Given the description of an element on the screen output the (x, y) to click on. 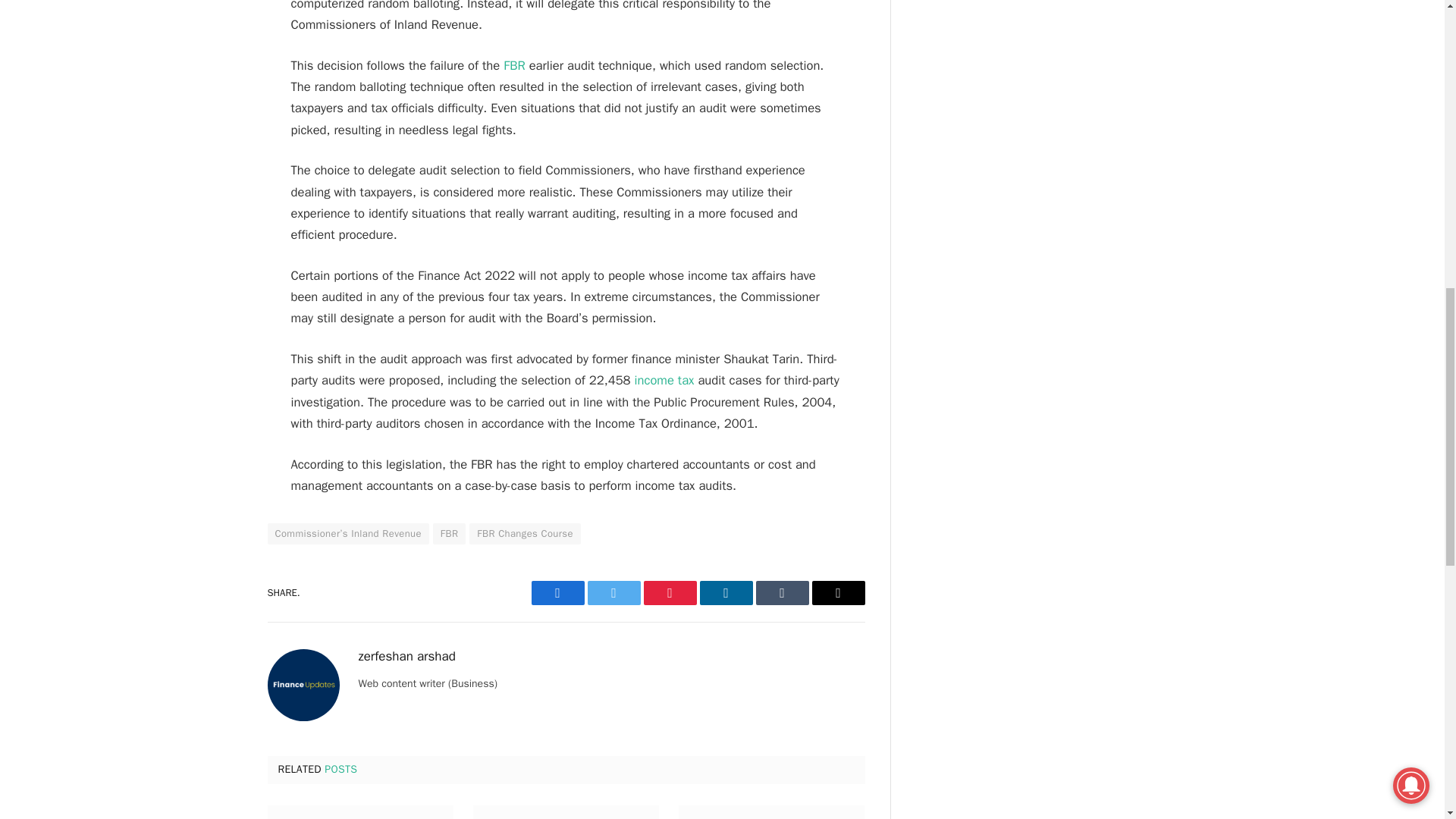
FBR (511, 65)
